Given the description of an element on the screen output the (x, y) to click on. 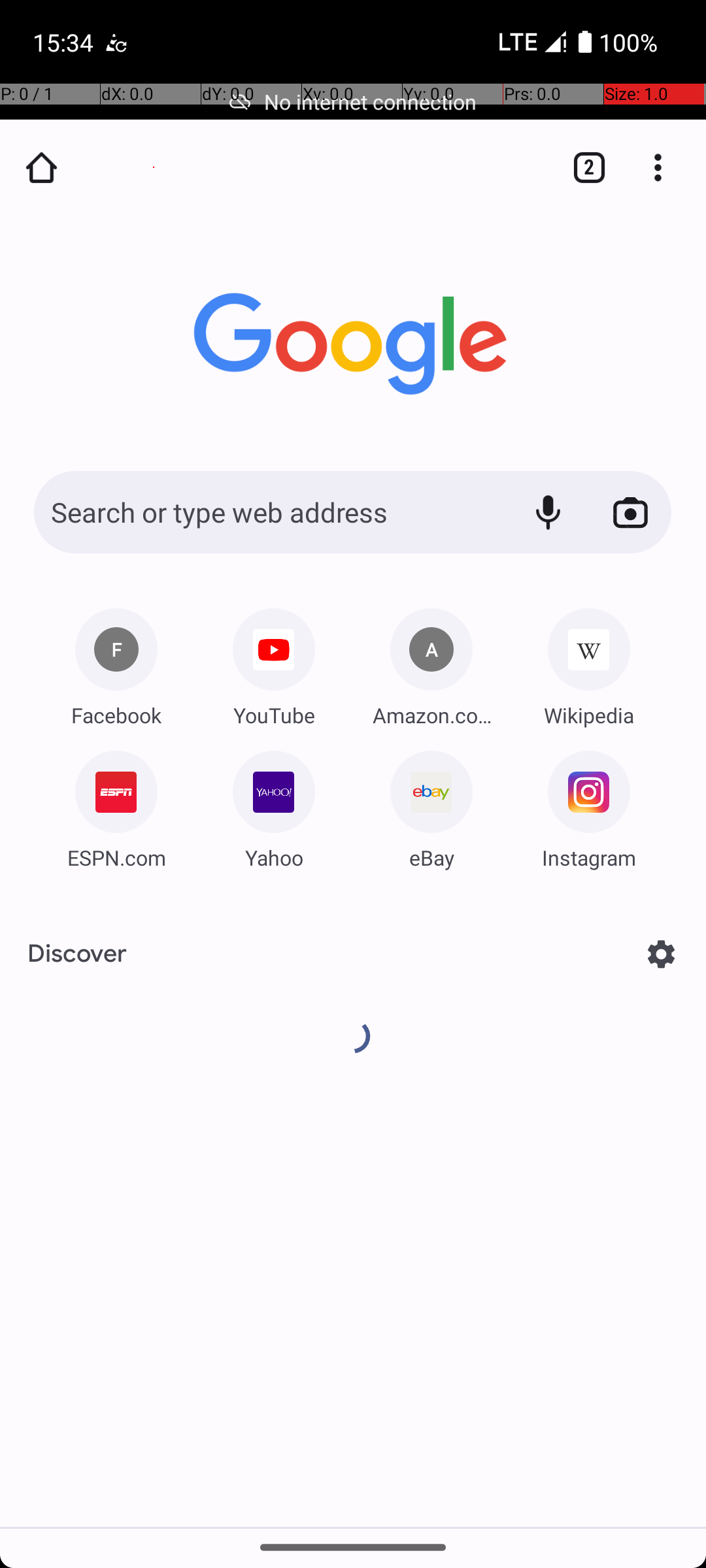
Search with your camera using Google Lens Element type: android.widget.ImageView (629, 512)
Navigate: Facebook: m.facebook.com Element type: android.widget.FrameLayout (115, 662)
Navigate: YouTube: m.youtube.com Element type: android.widget.FrameLayout (273, 662)
Navigate: Amazon.com: www.amazon.com Element type: android.widget.FrameLayout (431, 662)
Navigate: Wikipedia: en.m.wikipedia.org Element type: android.widget.FrameLayout (588, 662)
Navigate: ESPN.com: www.espn.com Element type: android.widget.FrameLayout (115, 804)
Navigate: Yahoo: www.yahoo.com Element type: android.widget.FrameLayout (273, 804)
Navigate: eBay: m.ebay.com Element type: android.widget.FrameLayout (431, 804)
Navigate: Instagram: www.instagram.com Element type: android.widget.FrameLayout (588, 804)
Options for Discover Element type: android.widget.ImageButton (660, 953)
Amazon.com Element type: android.widget.TextView (430, 715)
ESPN.com Element type: android.widget.TextView (115, 857)
eBay Element type: android.widget.TextView (430, 857)
Instagram Element type: android.widget.TextView (588, 857)
